Given the description of an element on the screen output the (x, y) to click on. 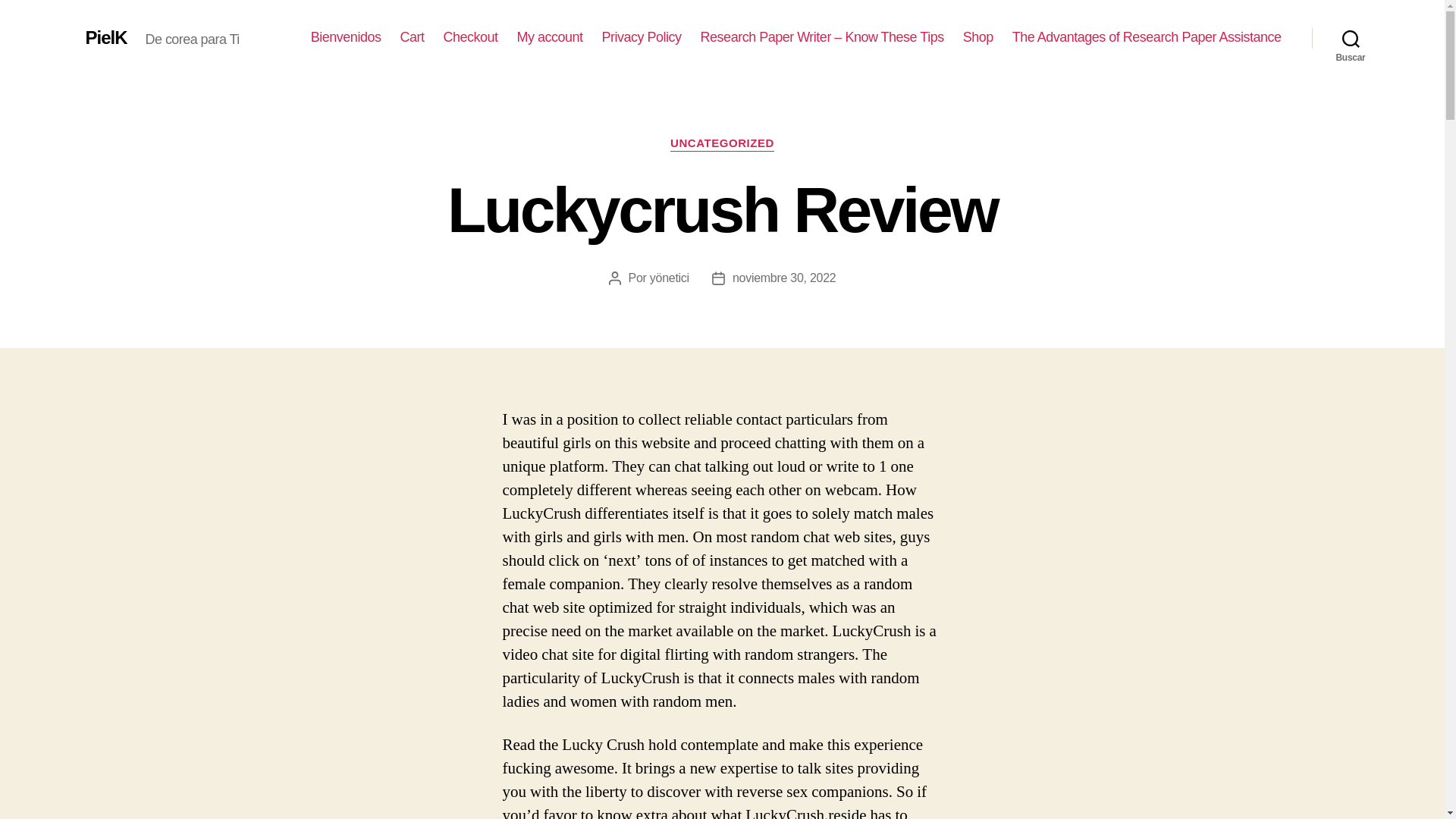
Bienvenidos (346, 37)
My account (549, 37)
Shop (977, 37)
The Advantages of Research Paper Assistance (1146, 37)
Privacy Policy (641, 37)
Buscar (1350, 37)
noviembre 30, 2022 (783, 277)
Cart (410, 37)
Checkout (469, 37)
UNCATEGORIZED (721, 143)
